Given the description of an element on the screen output the (x, y) to click on. 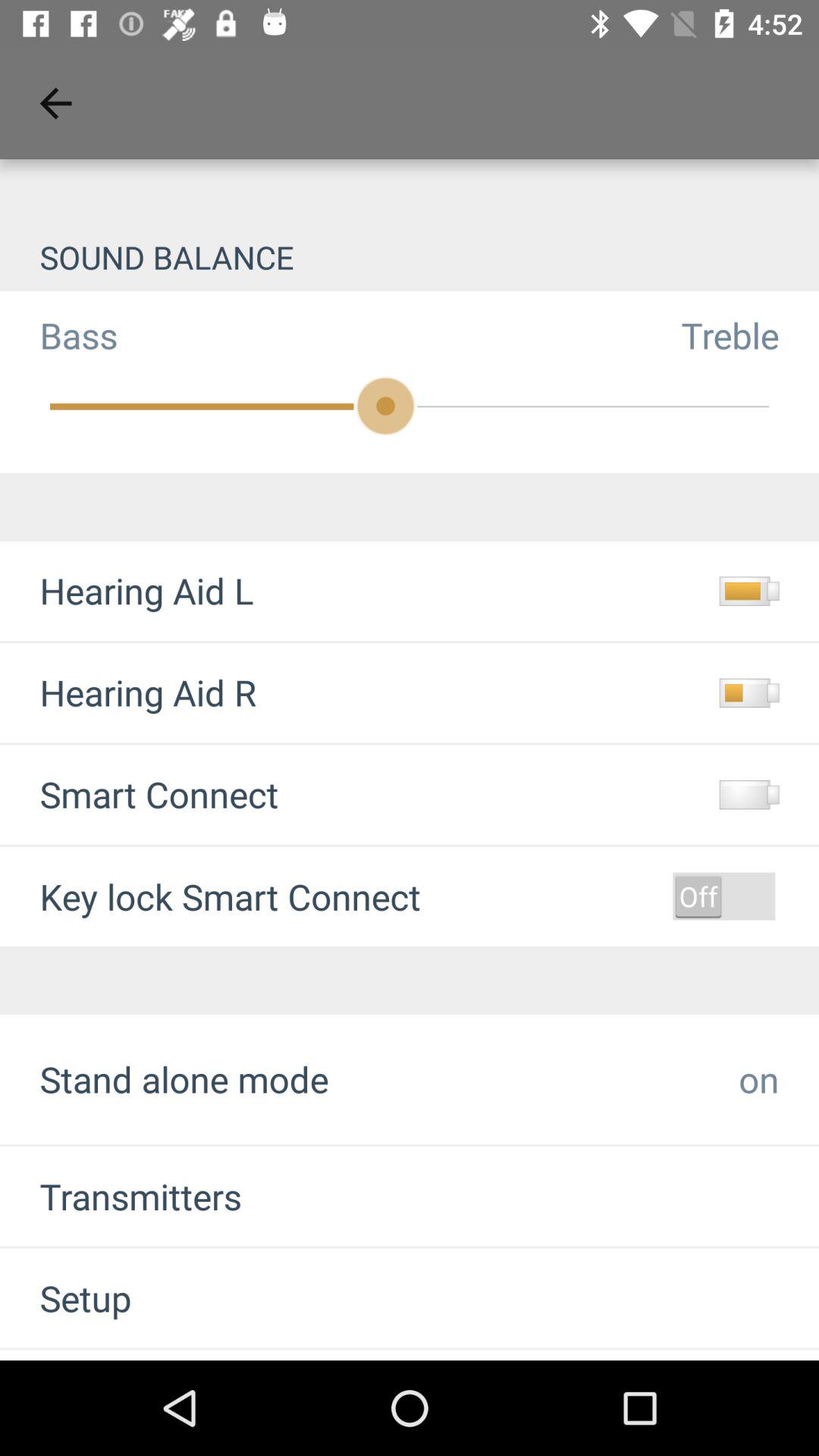
select the item next to treble icon (58, 335)
